Given the description of an element on the screen output the (x, y) to click on. 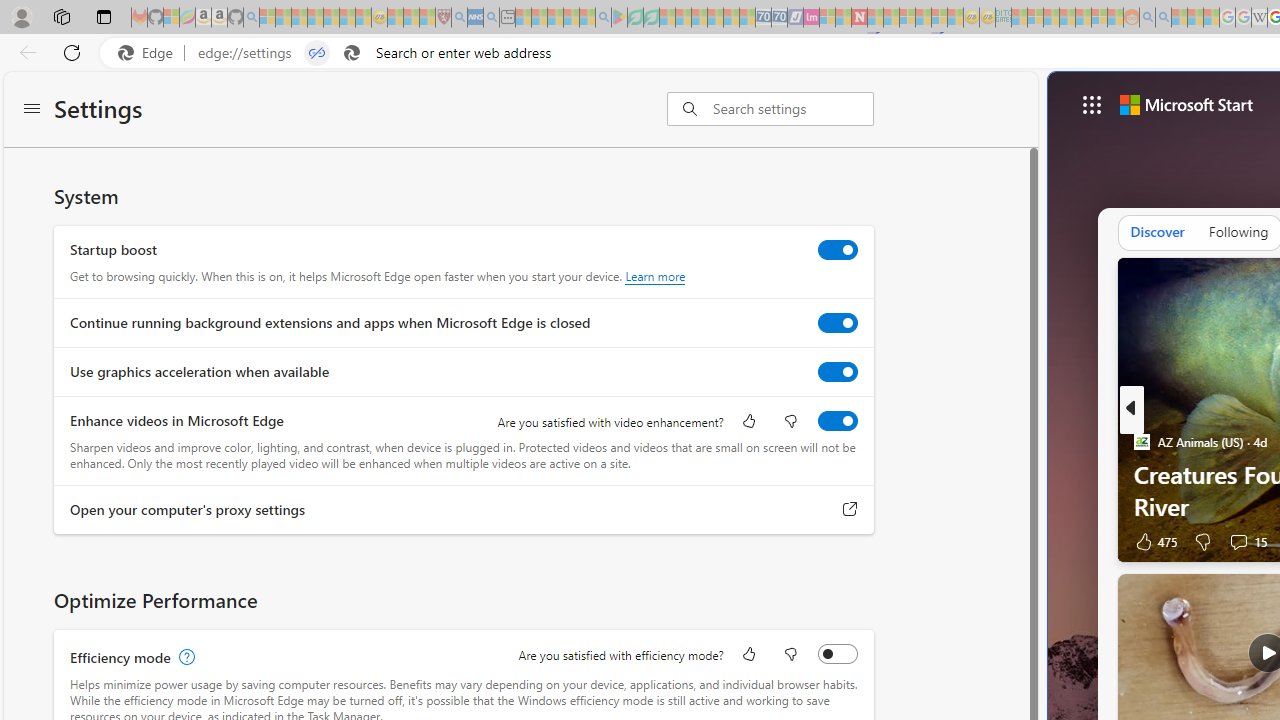
Tabs in split screen (317, 53)
Jobs - lastminute.com Investor Portal - Sleeping (811, 17)
475 Like (1155, 541)
Startup boost (837, 249)
